Given the description of an element on the screen output the (x, y) to click on. 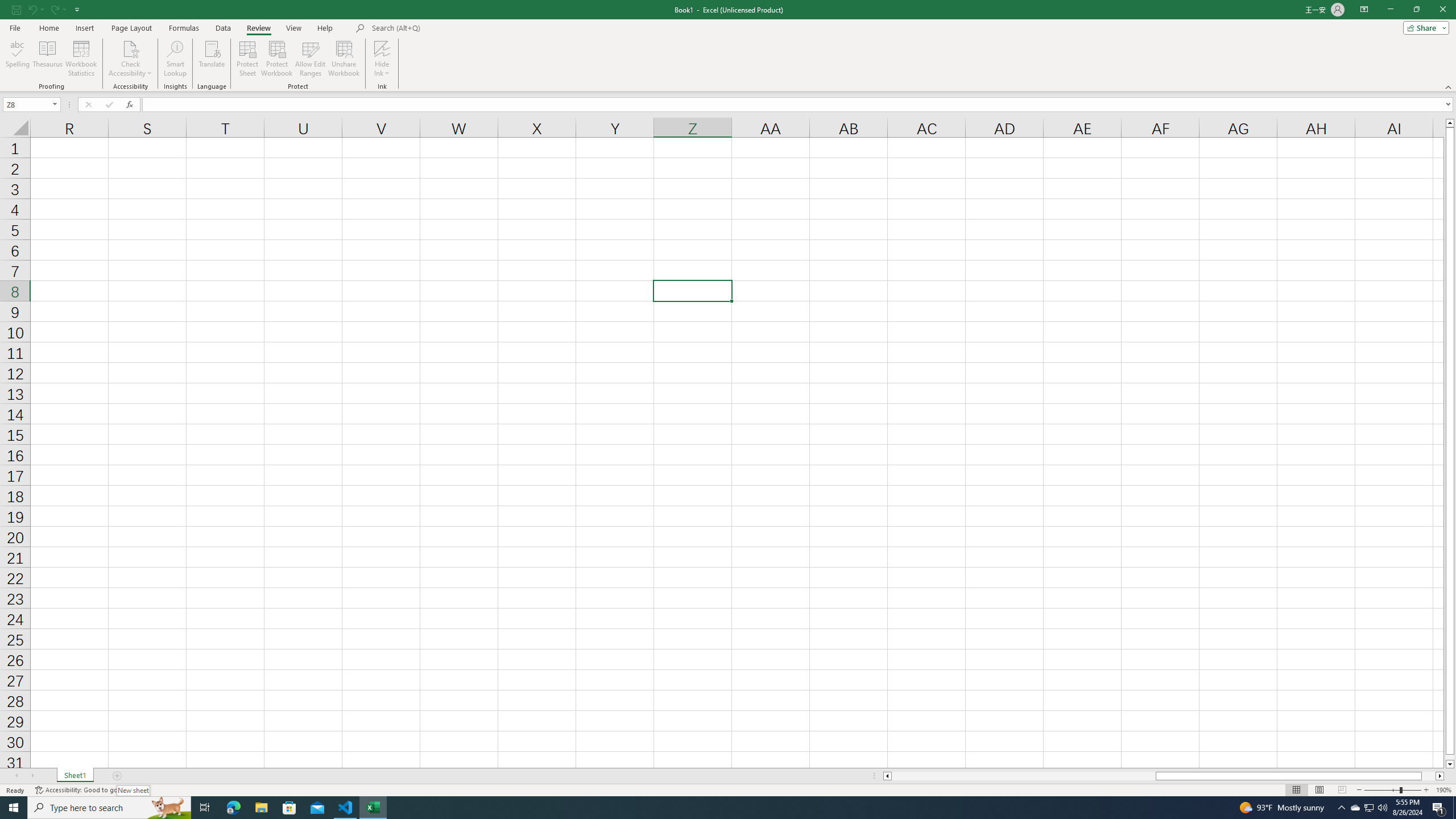
Check Accessibility (129, 58)
